Given the description of an element on the screen output the (x, y) to click on. 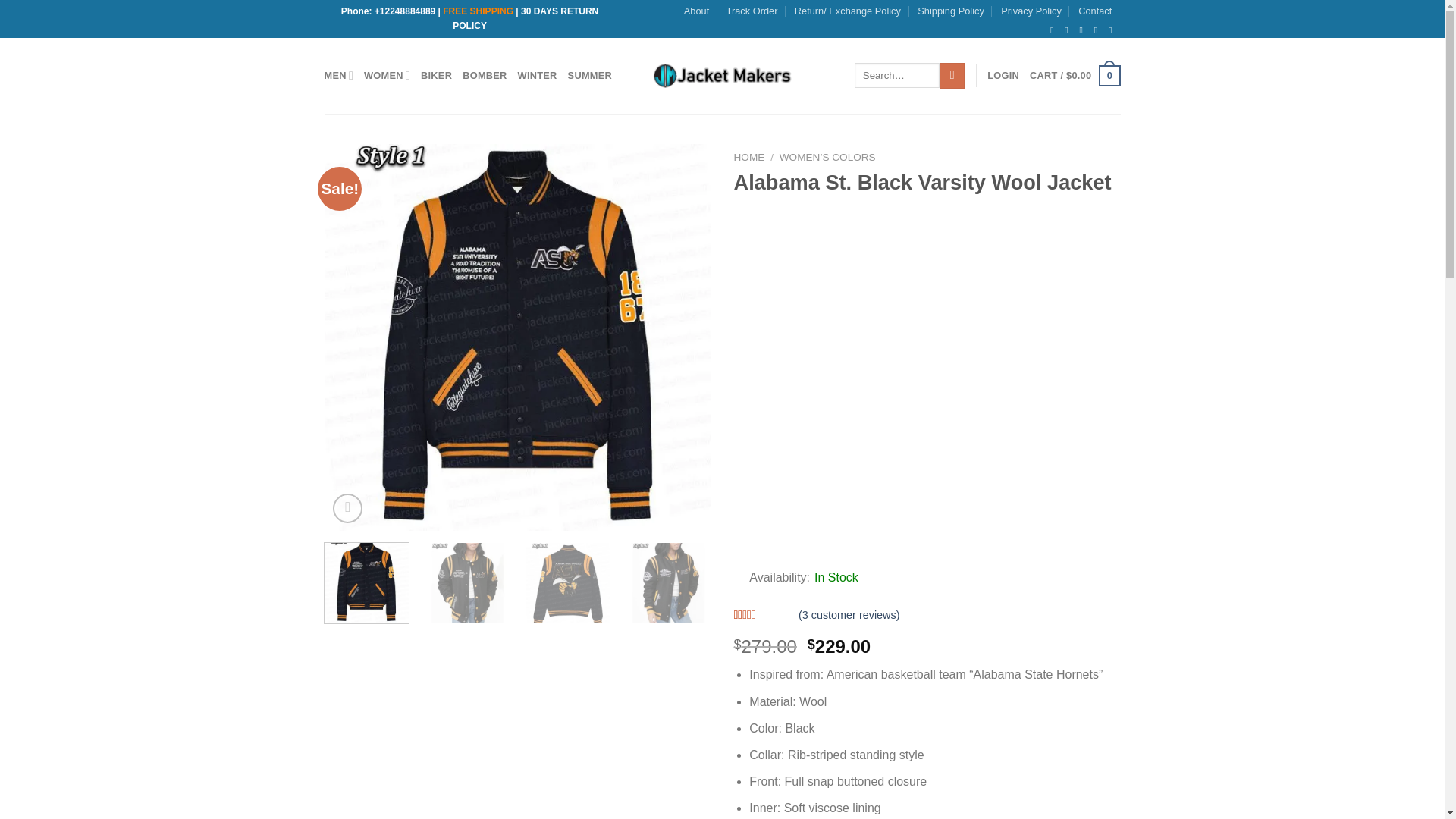
Track Order (751, 11)
About (696, 11)
Shipping Policy (950, 11)
MEN (338, 75)
Privacy Policy (1031, 11)
Contact (1095, 11)
Cart (1074, 75)
